Given the description of an element on the screen output the (x, y) to click on. 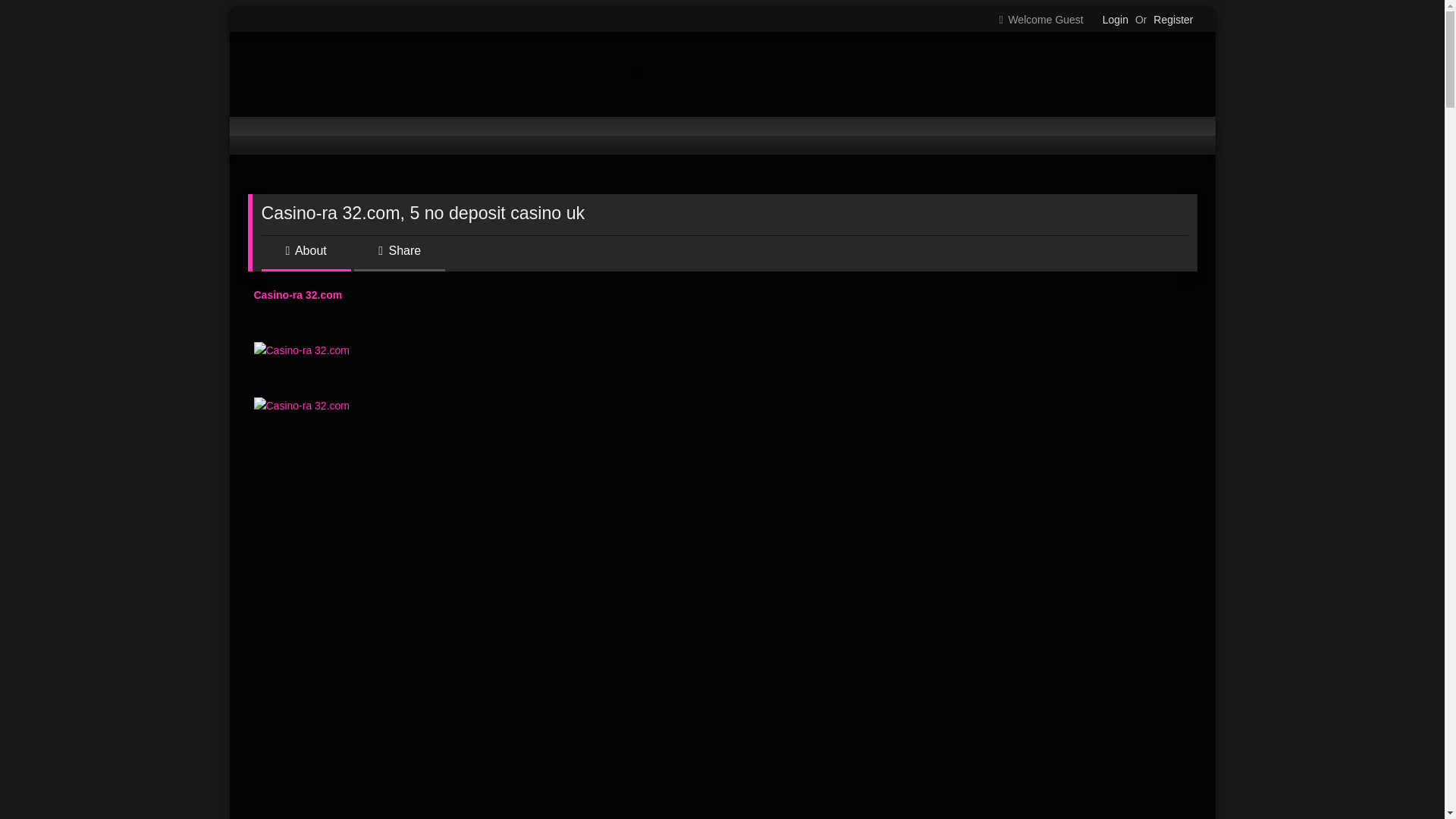
Casino-ra 32.com (301, 405)
Register (1172, 19)
WATCHXXXXFREE CLUB UPLOAD YOUR VIDEO (444, 73)
Share (399, 256)
About (305, 256)
Login (1115, 19)
Casino-ra 32.com (301, 350)
Casino-ra 32.com (297, 295)
